Given the description of an element on the screen output the (x, y) to click on. 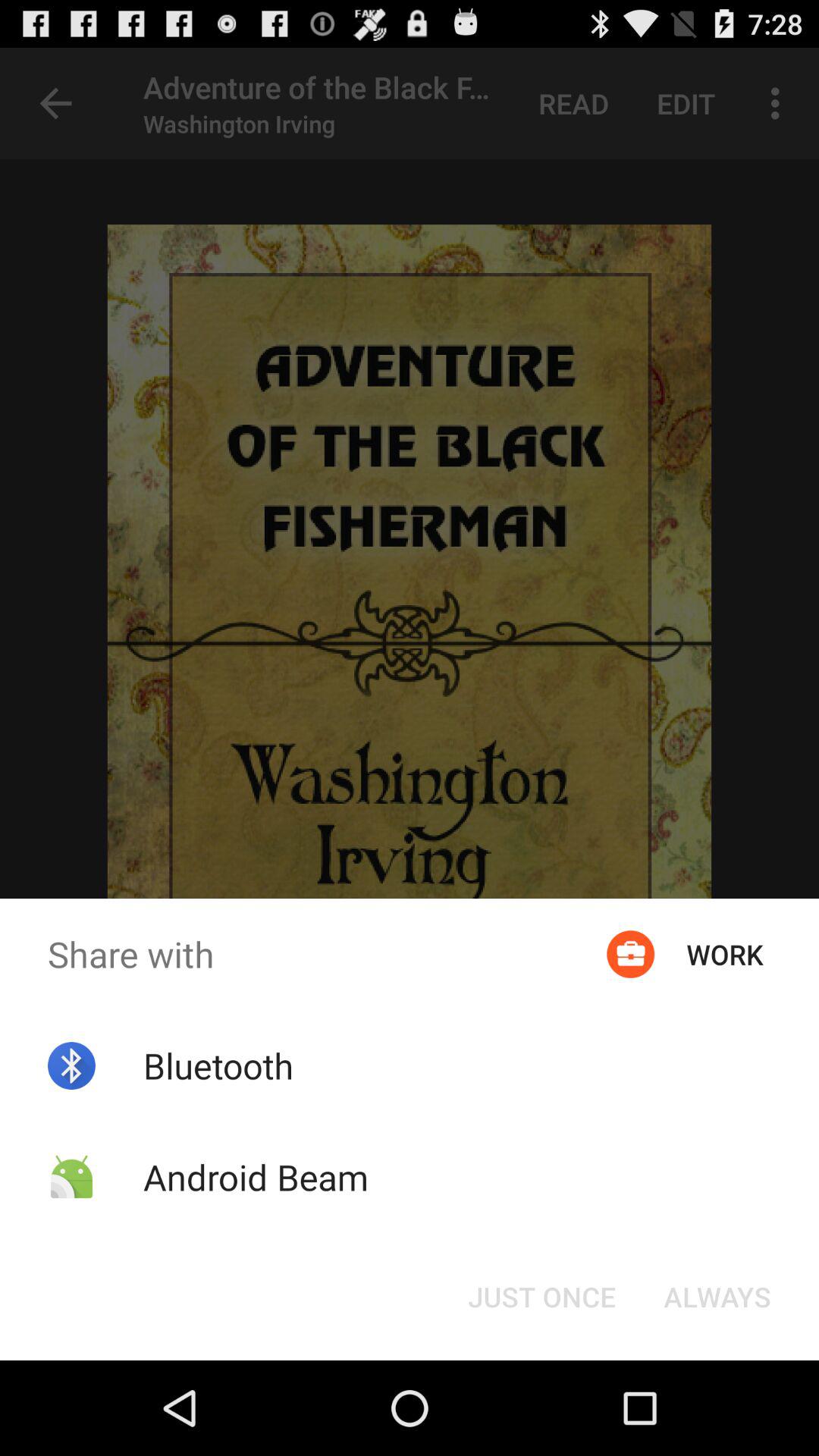
select the item above android beam (218, 1065)
